Given the description of an element on the screen output the (x, y) to click on. 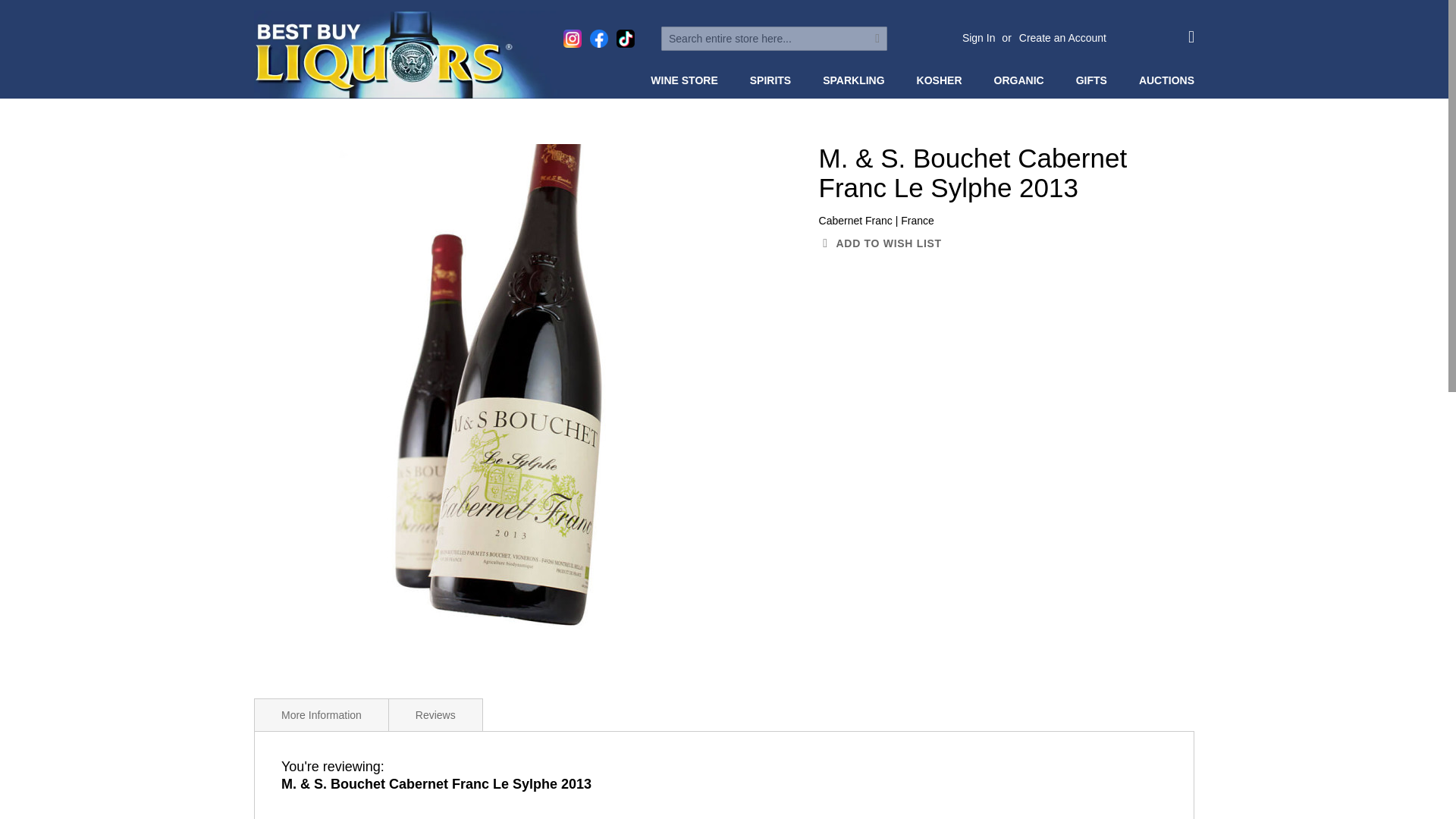
Best Buy Liquors on Instagram (571, 38)
Best Buy Liquors on TikTok (624, 38)
Best Buy Liquors on Facebook (598, 38)
Best Buy Liquors (406, 54)
WINE STORE (687, 80)
SPIRITS (773, 80)
Create an Account (1062, 38)
Sign In (978, 38)
